Given the description of an element on the screen output the (x, y) to click on. 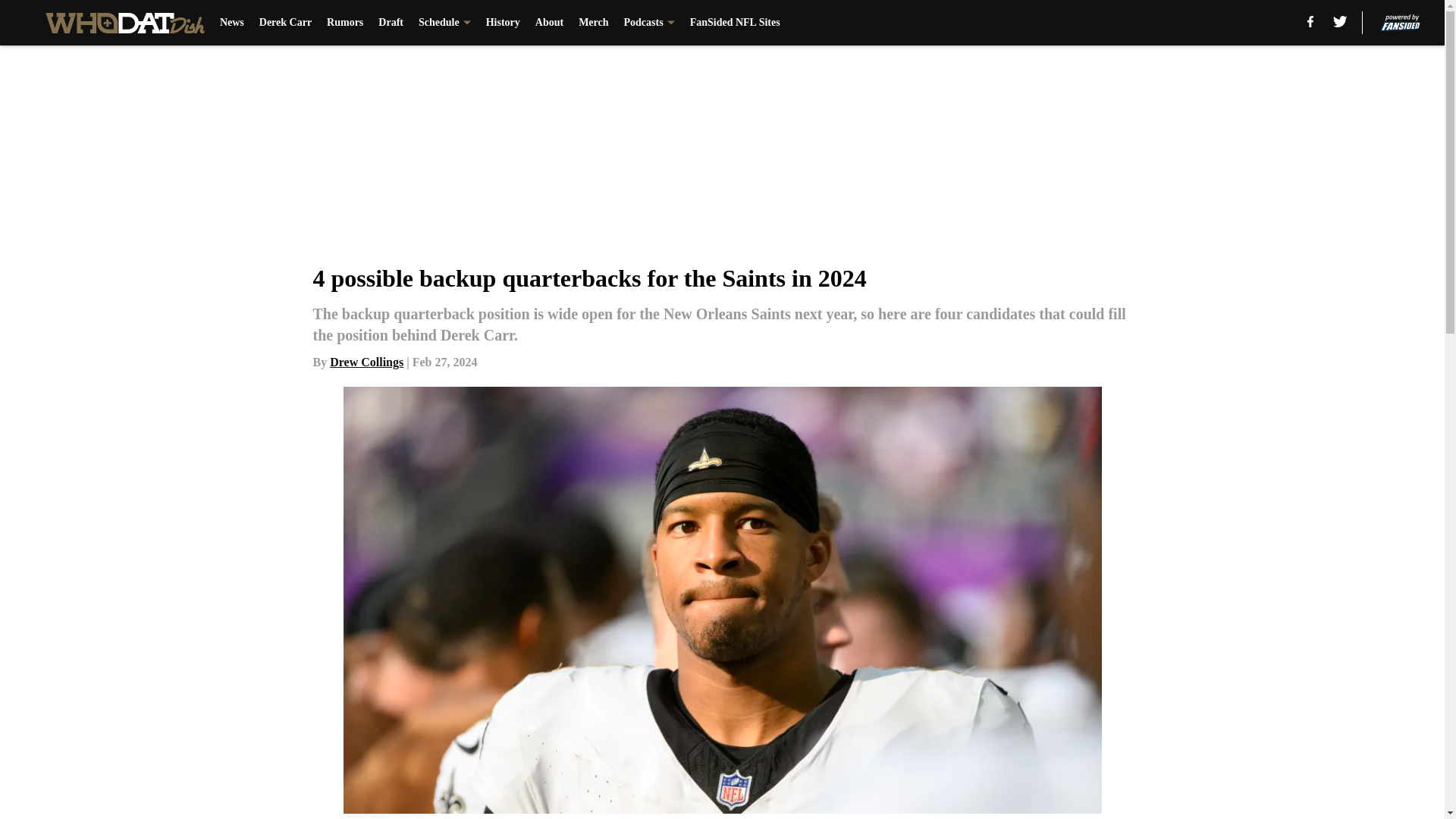
Derek Carr (285, 22)
About (549, 22)
History (502, 22)
News (231, 22)
Drew Collings (366, 361)
Rumors (344, 22)
FanSided NFL Sites (735, 22)
Draft (390, 22)
Merch (593, 22)
